Given the description of an element on the screen output the (x, y) to click on. 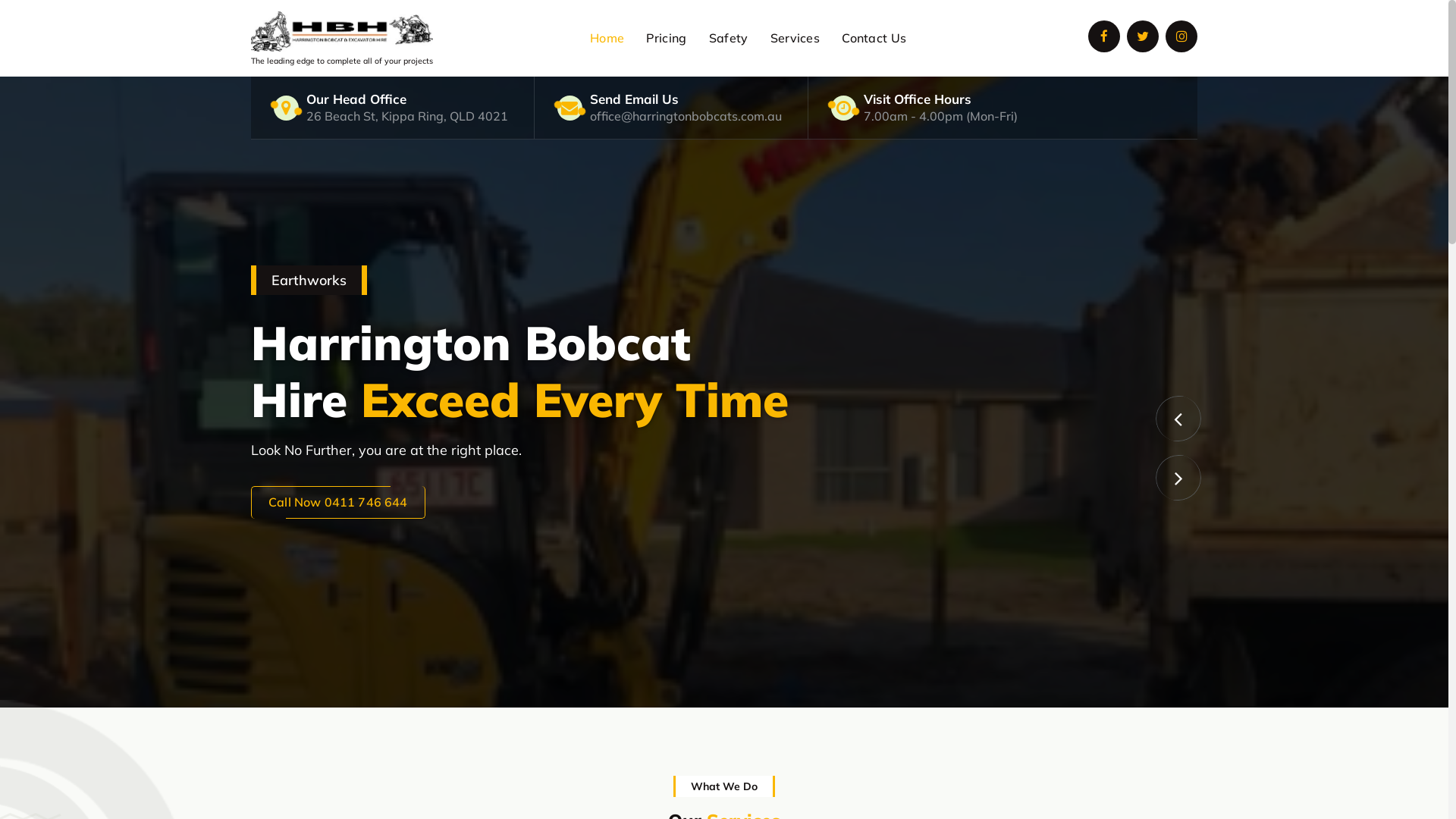
Services Element type: text (794, 38)
Call Now 0411 746 644 Element type: text (338, 502)
Safety Element type: text (728, 38)
Home Element type: text (606, 38)
Pricing Element type: text (666, 38)
Earthworks Element type: hover (724, 391)
office@harringtonbobcats.com.au Element type: text (685, 115)
Contact Us Element type: text (873, 38)
